Given the description of an element on the screen output the (x, y) to click on. 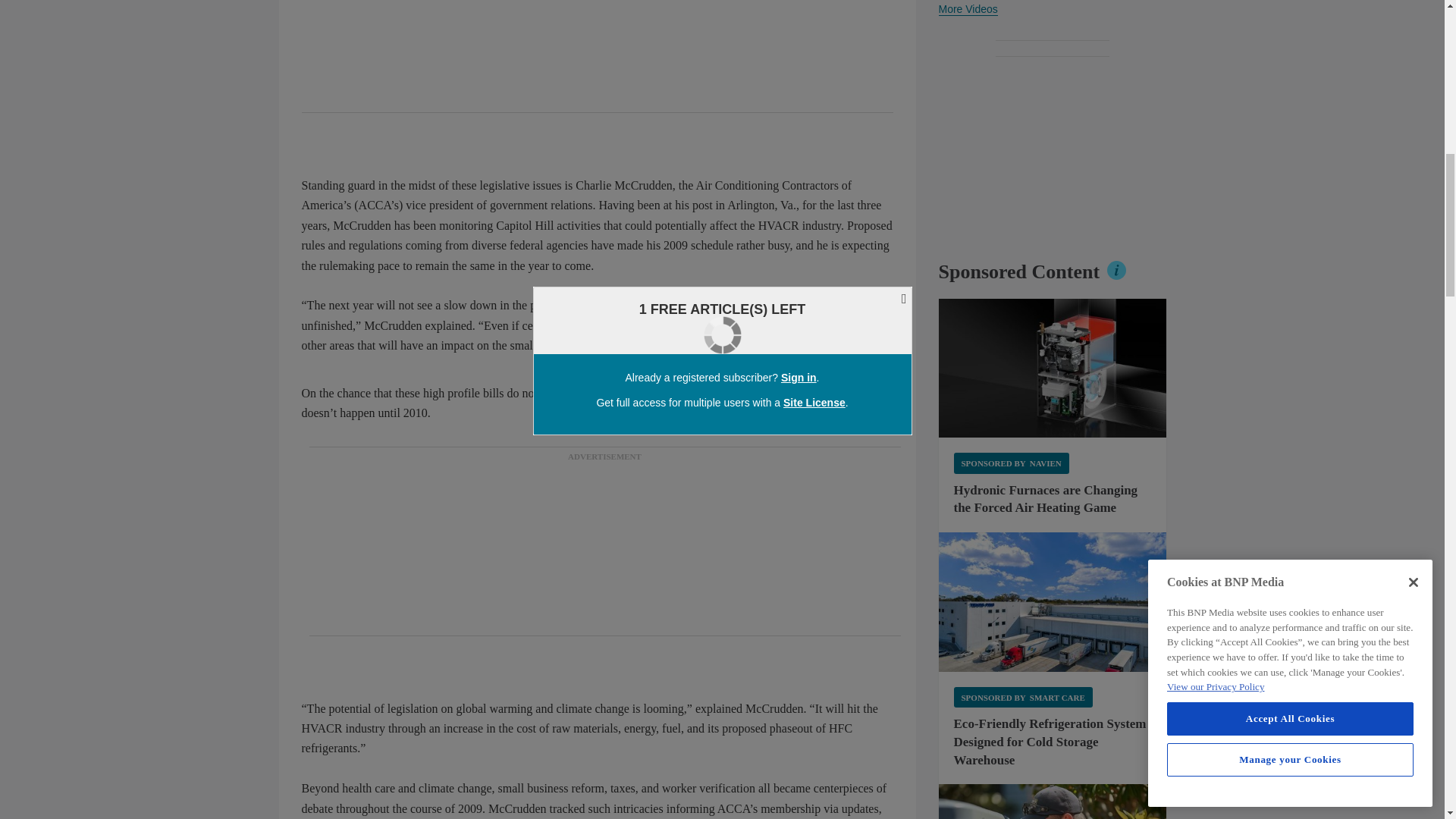
Hydronic Forced Air Furnace Diagram (1052, 368)
Texas Frio Cold Storage (1052, 601)
Sponsored by Navien (1010, 462)
Technician Working on HVAC Unit (1052, 801)
Sponsored by Smart Care (1023, 697)
